Given the description of an element on the screen output the (x, y) to click on. 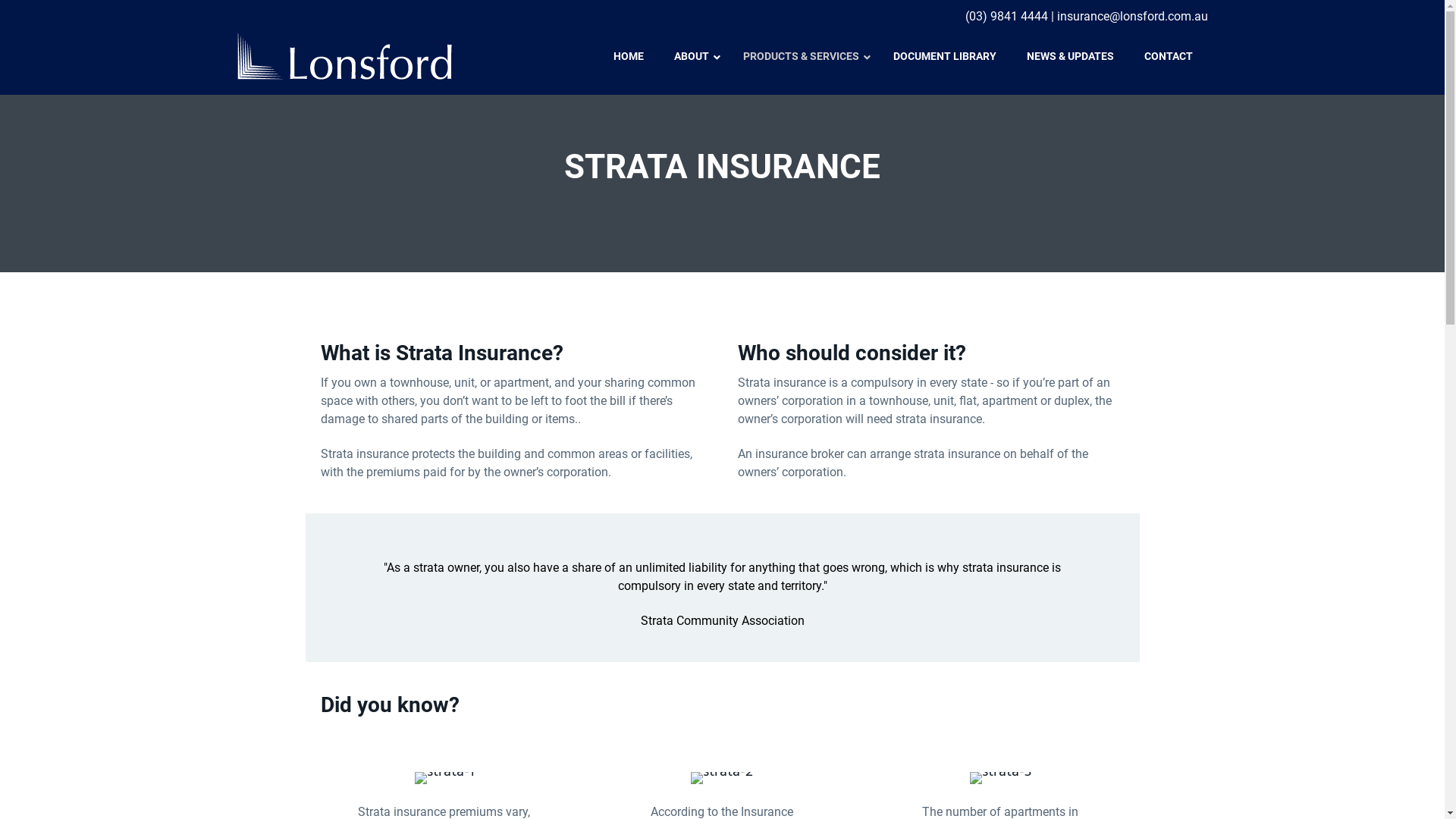
PRODUCTS & SERVICES Element type: text (803, 55)
CONTACT Element type: text (1167, 55)
LONSFORD INSURANCE BROKERS Element type: text (350, 85)
strata-2 Element type: hover (721, 777)
HOME Element type: text (627, 55)
strata-1 Element type: hover (443, 777)
DOCUMENT LIBRARY Element type: text (944, 55)
Skip to primary navigation Element type: text (0, 0)
NEWS & UPDATES Element type: text (1070, 55)
strata-3 Element type: hover (1000, 777)
